Given the description of an element on the screen output the (x, y) to click on. 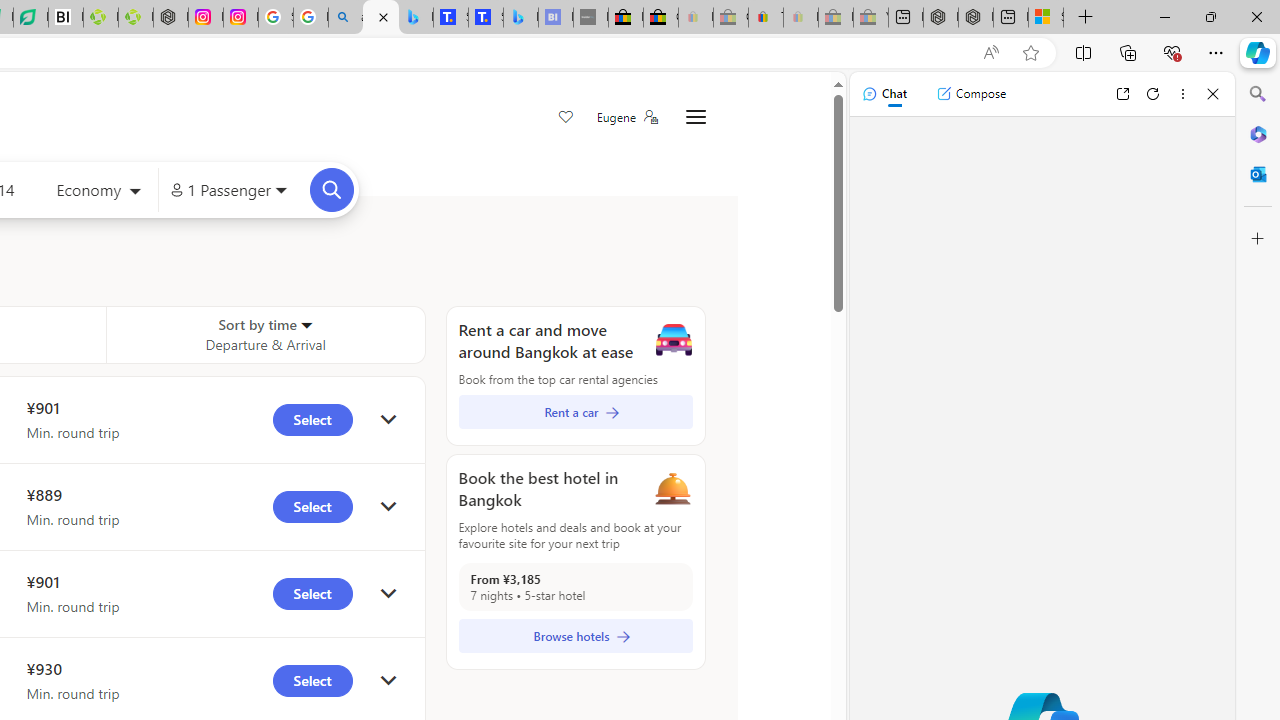
Nordace - Nordace Edin Collection (170, 17)
Chat (884, 93)
Descarga Driver Updater (136, 17)
Shangri-La Bangkok, Hotel reviews and Room rates (485, 17)
Eugene (626, 117)
Select class of service (98, 192)
Nordace - Summer Adventures 2024 (975, 17)
